Given the description of an element on the screen output the (x, y) to click on. 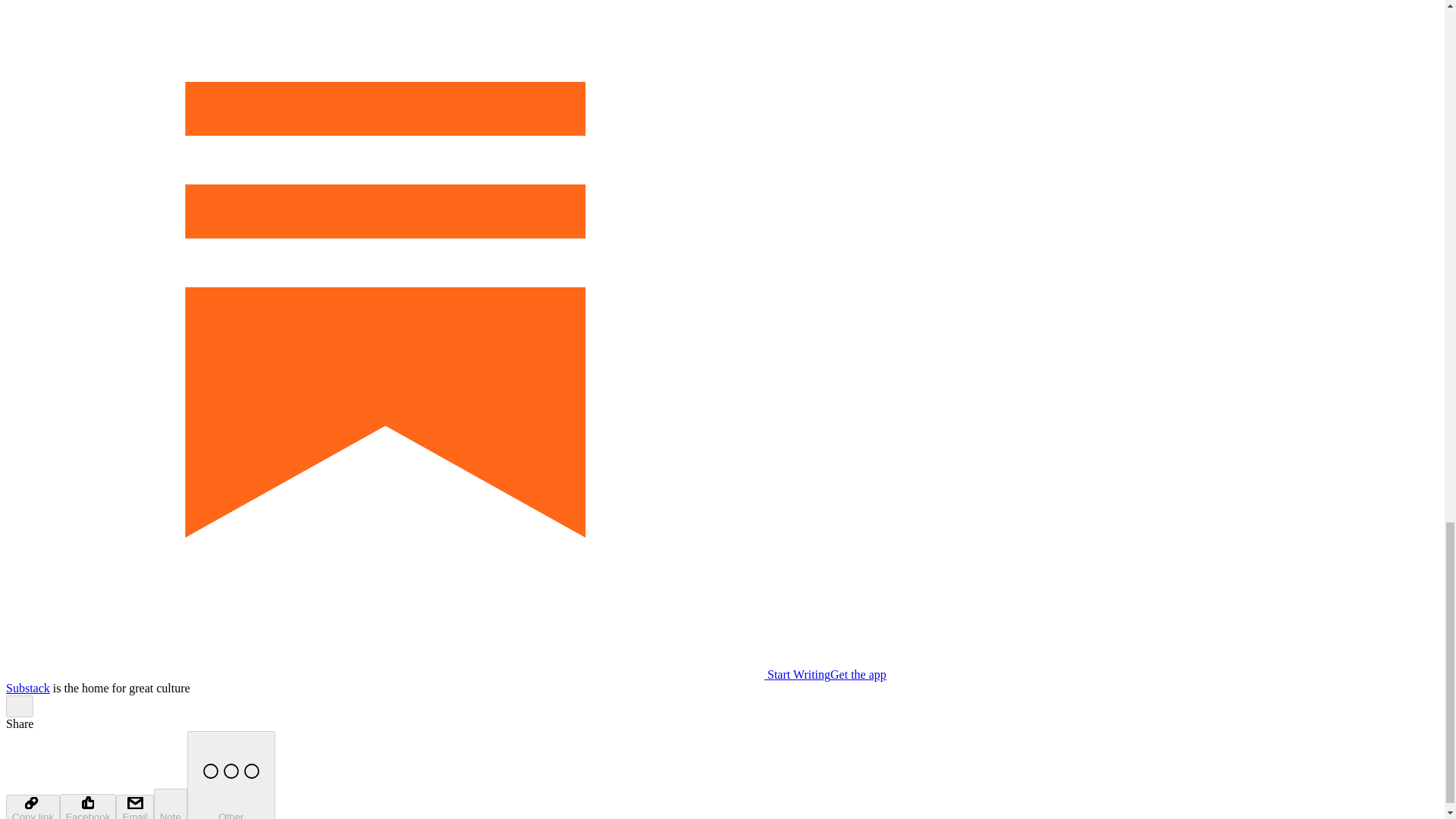
Start Writing (417, 674)
Get the app (857, 674)
Substack (27, 687)
